Given the description of an element on the screen output the (x, y) to click on. 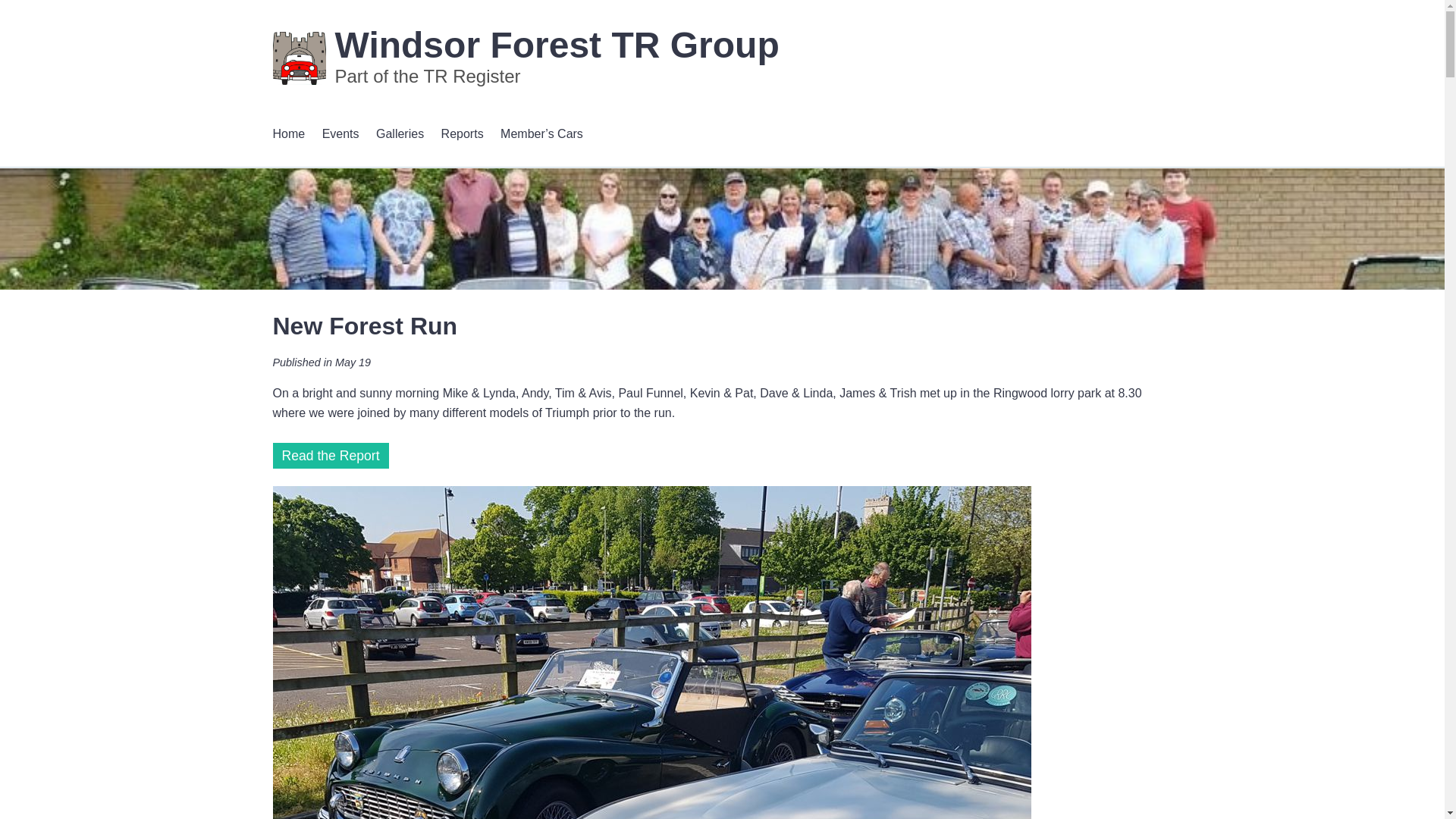
Galleries (399, 134)
Read the Report (330, 455)
Reports (462, 134)
Windsor Forest TR Group (556, 45)
Events (340, 134)
Home (289, 134)
